Given the description of an element on the screen output the (x, y) to click on. 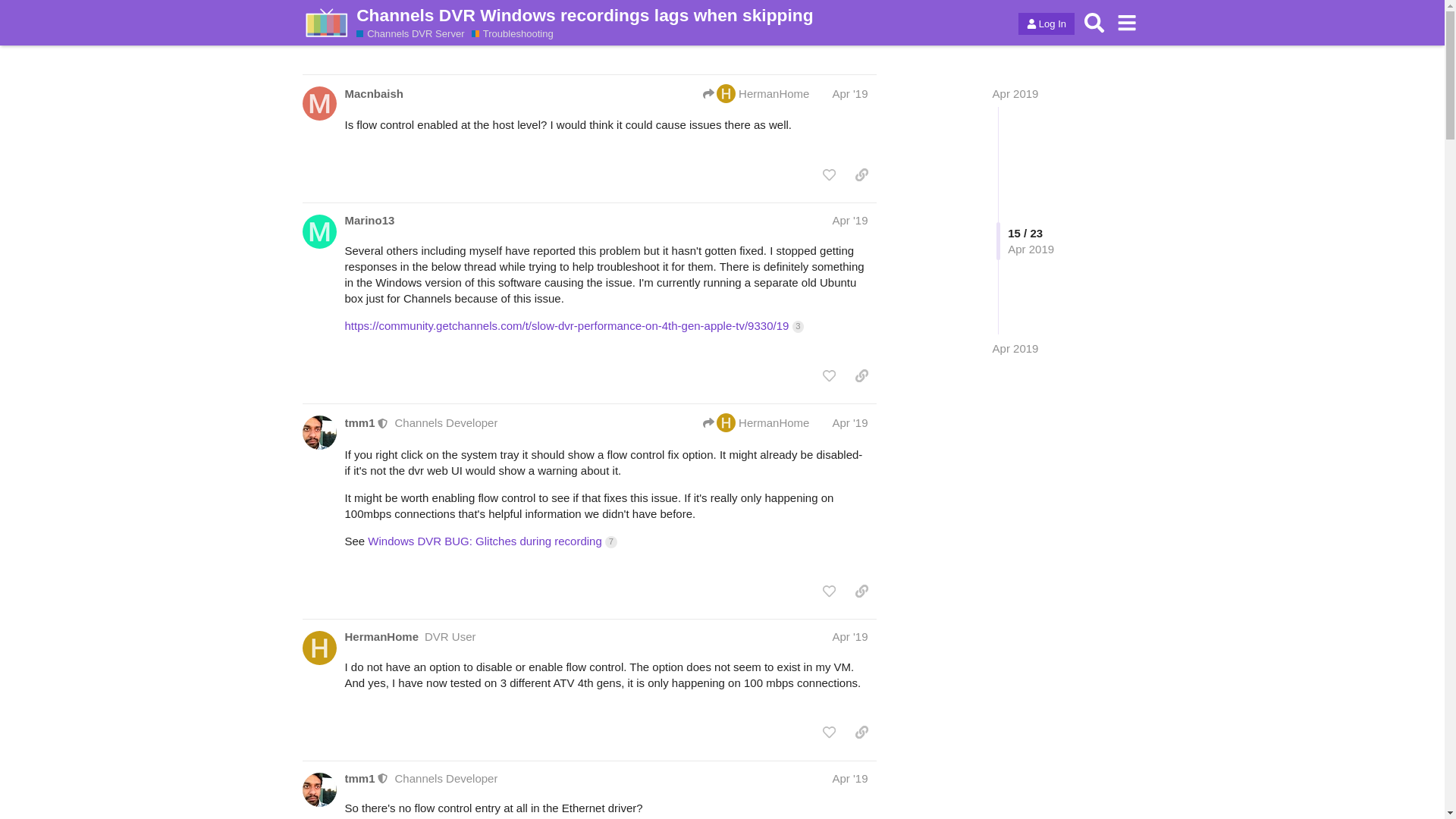
Load parent post (756, 422)
Log In (1045, 24)
3 clicks (798, 326)
Channels DVR Server (410, 33)
tmm1 (358, 422)
This user is a moderator (382, 422)
Troubleshooting (512, 33)
Apr '19 (849, 422)
Apr '19 (849, 92)
